Given the description of an element on the screen output the (x, y) to click on. 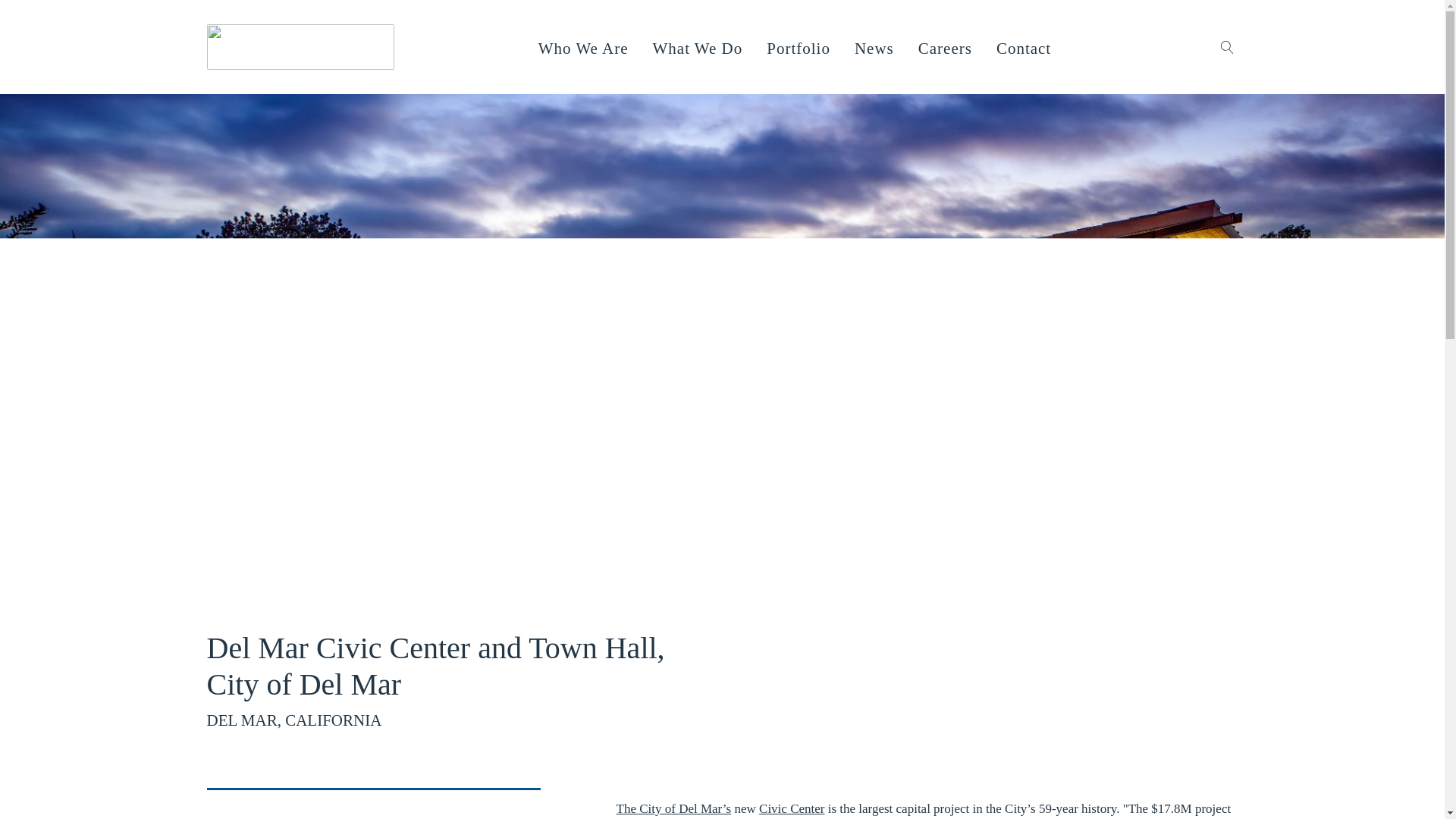
News (873, 48)
Search (26, 9)
Contact (1023, 48)
Who We Are (583, 48)
What We Do (698, 48)
Civic Center (791, 808)
Portfolio (798, 48)
Careers (944, 48)
